Given the description of an element on the screen output the (x, y) to click on. 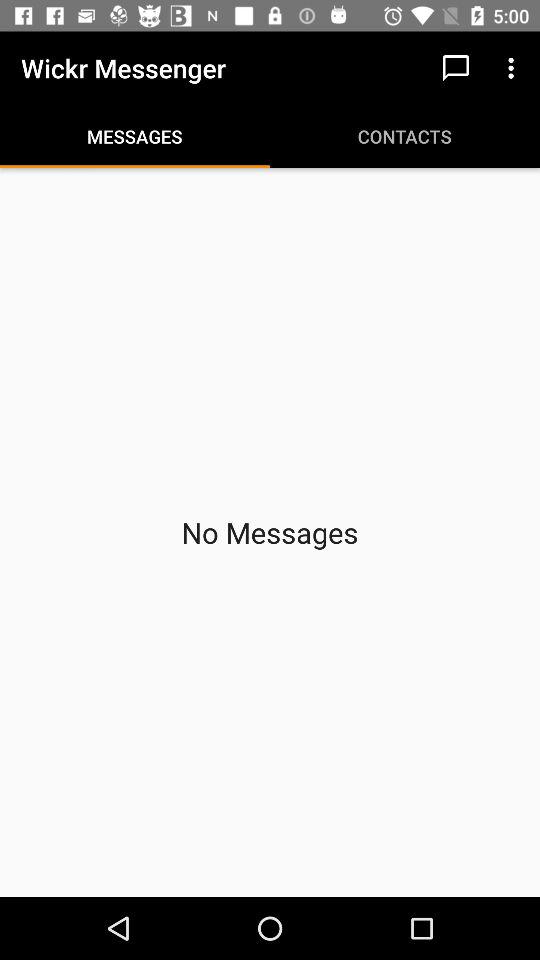
open the item to the right of the wickr messenger (455, 67)
